Given the description of an element on the screen output the (x, y) to click on. 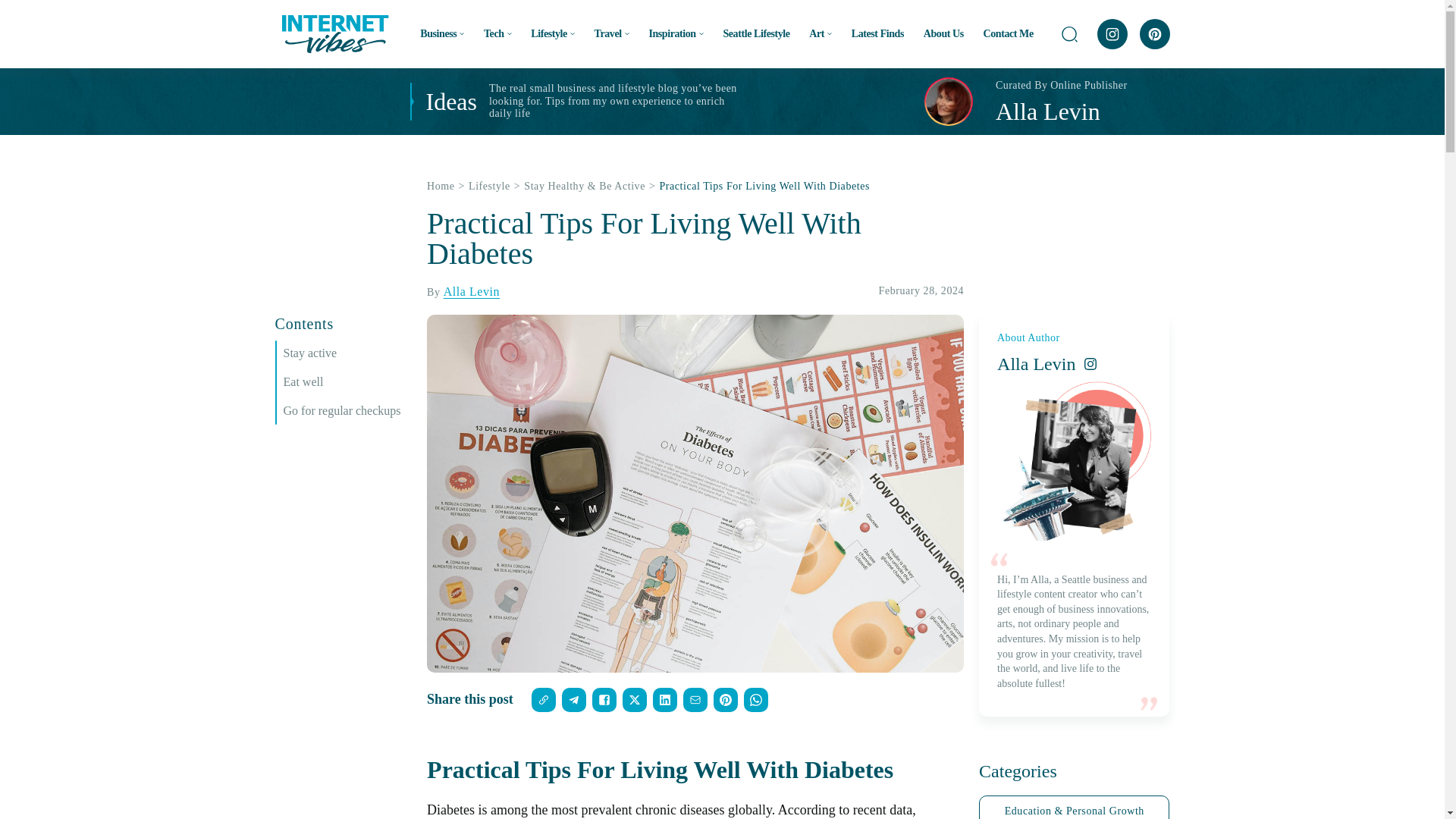
Business (442, 33)
Lifestyle (553, 33)
Travel (611, 33)
Tech (497, 33)
Inspiration (675, 33)
Stay active (347, 352)
